Given the description of an element on the screen output the (x, y) to click on. 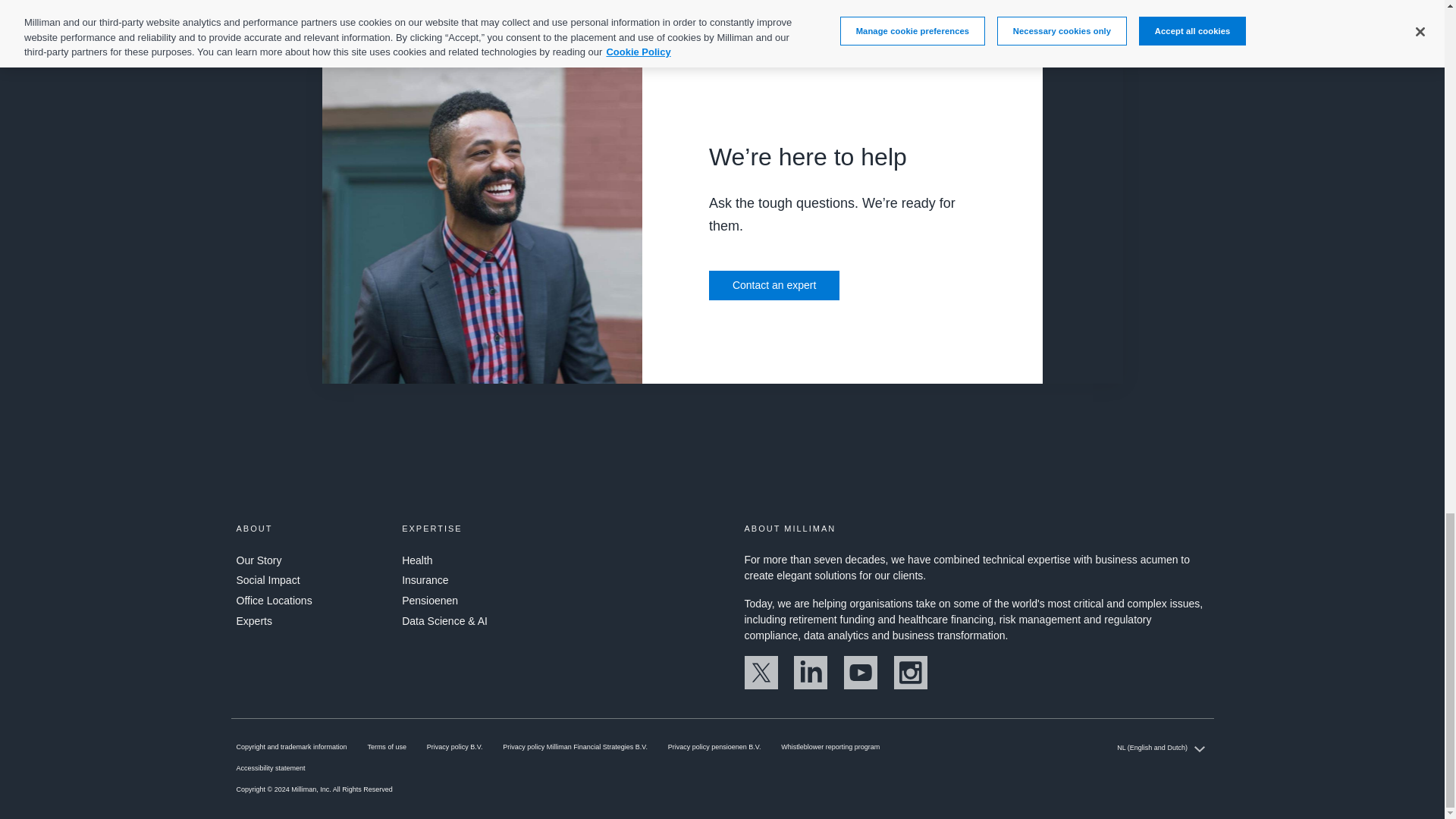
linkedin (810, 685)
instagram (910, 685)
Twitter (760, 685)
youtube (860, 685)
Health (416, 560)
